Given the description of an element on the screen output the (x, y) to click on. 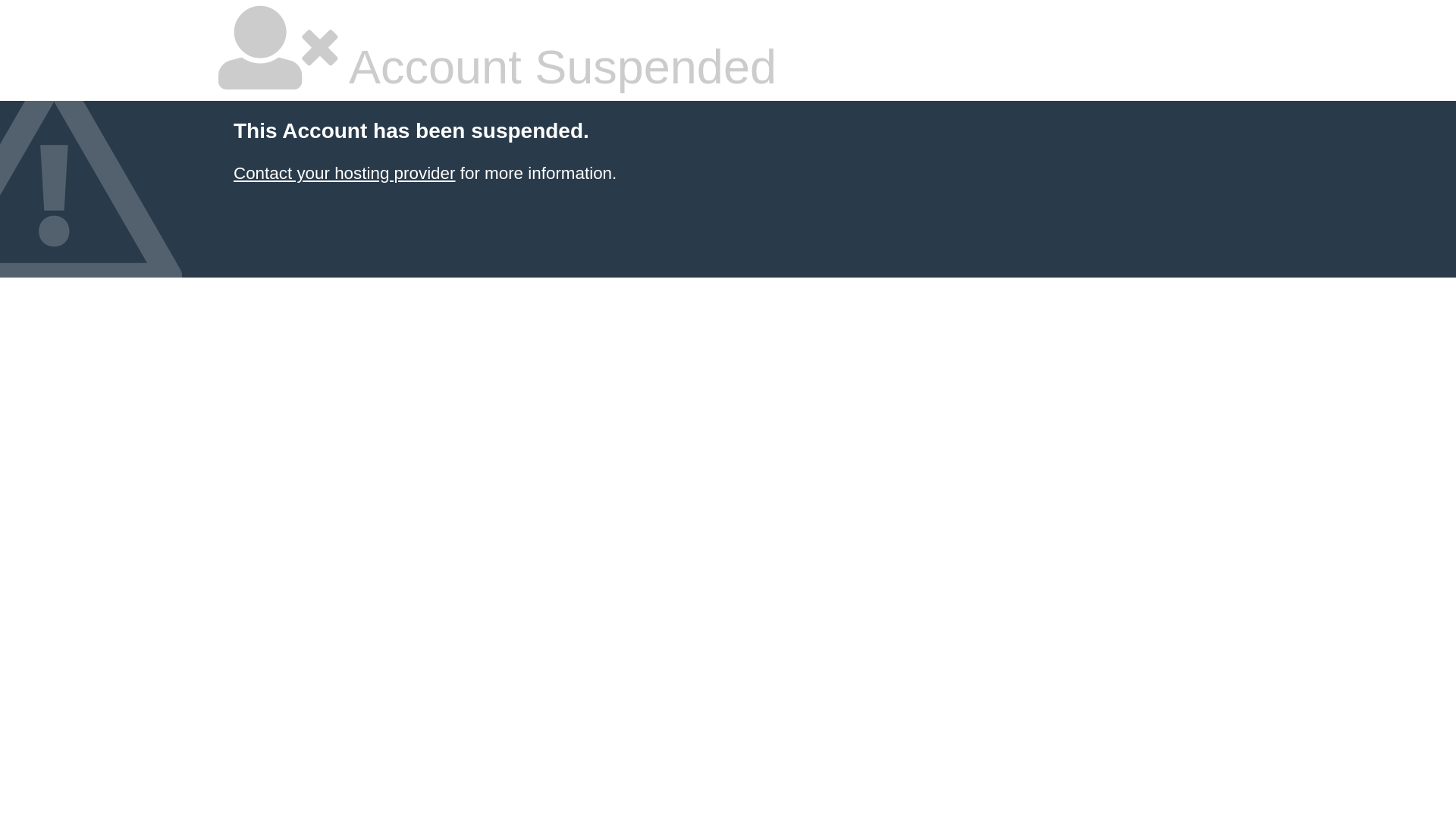
Contact your hosting provider Element type: text (344, 172)
